Given the description of an element on the screen output the (x, y) to click on. 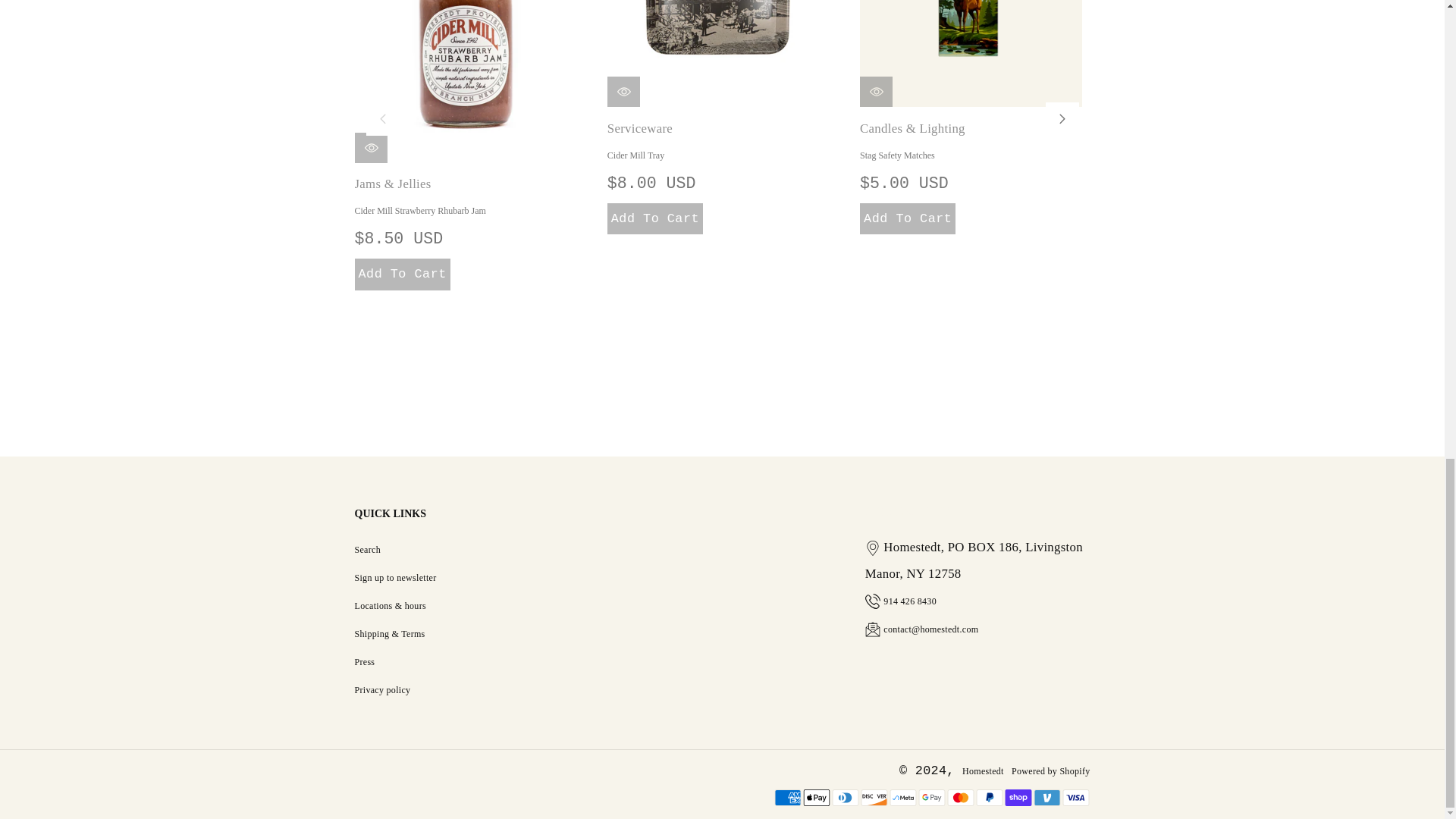
Stag Safety Matches (970, 53)
Cider Mill Tray (718, 53)
Cider Mill Strawberry Rhubarb Jam (465, 81)
American Express (787, 797)
Ranger Station Roll on Fragrance no (1223, 53)
